Given the description of an element on the screen output the (x, y) to click on. 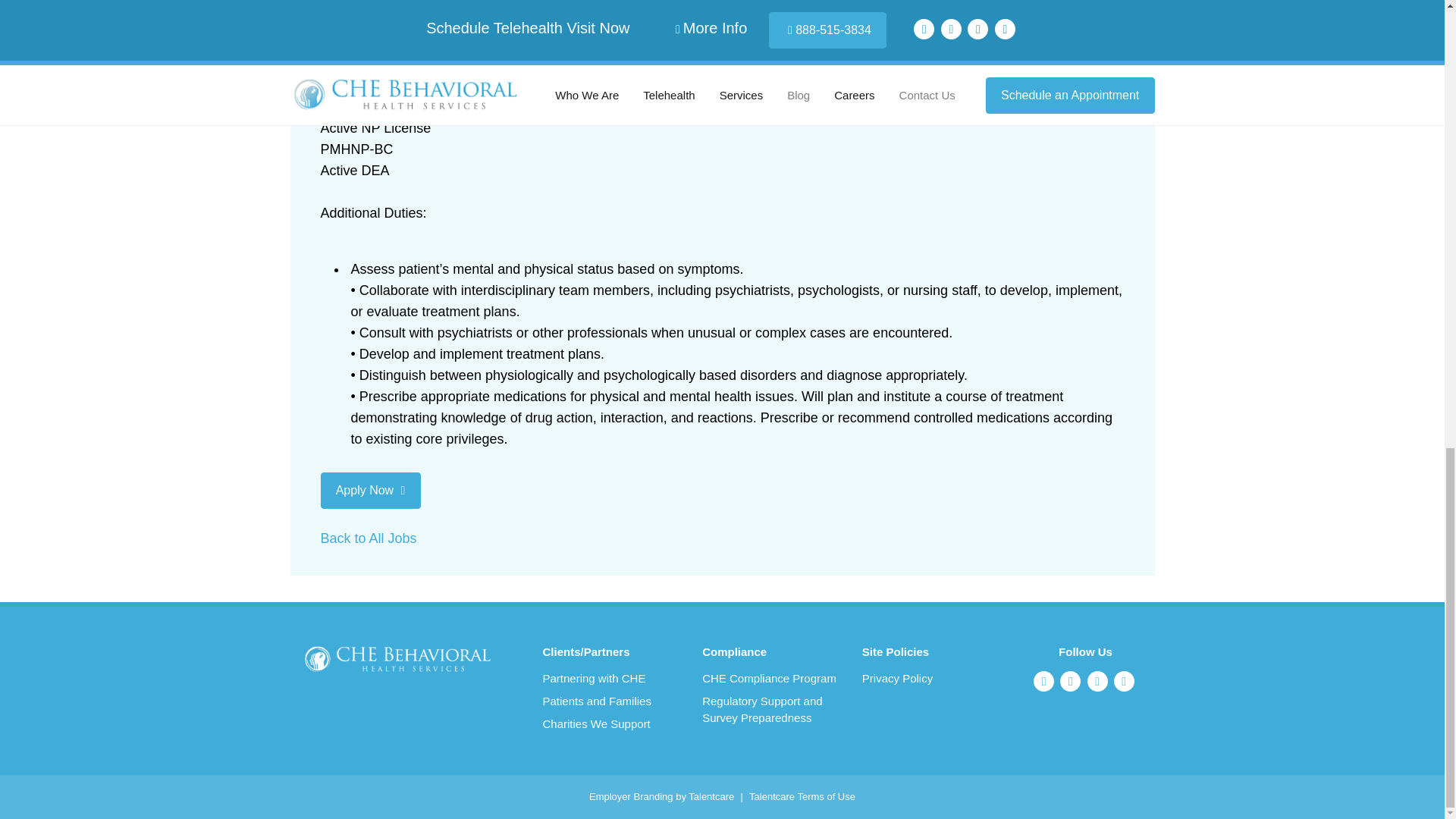
Regulatory Support and Survey Preparedness (770, 709)
CHE Compliance Program (770, 678)
Apply Now (370, 490)
Patients and Families (611, 701)
Privacy Policy (929, 678)
Back to All Jobs (368, 538)
Charities We Support (611, 723)
Partnering with CHE (611, 678)
